Given the description of an element on the screen output the (x, y) to click on. 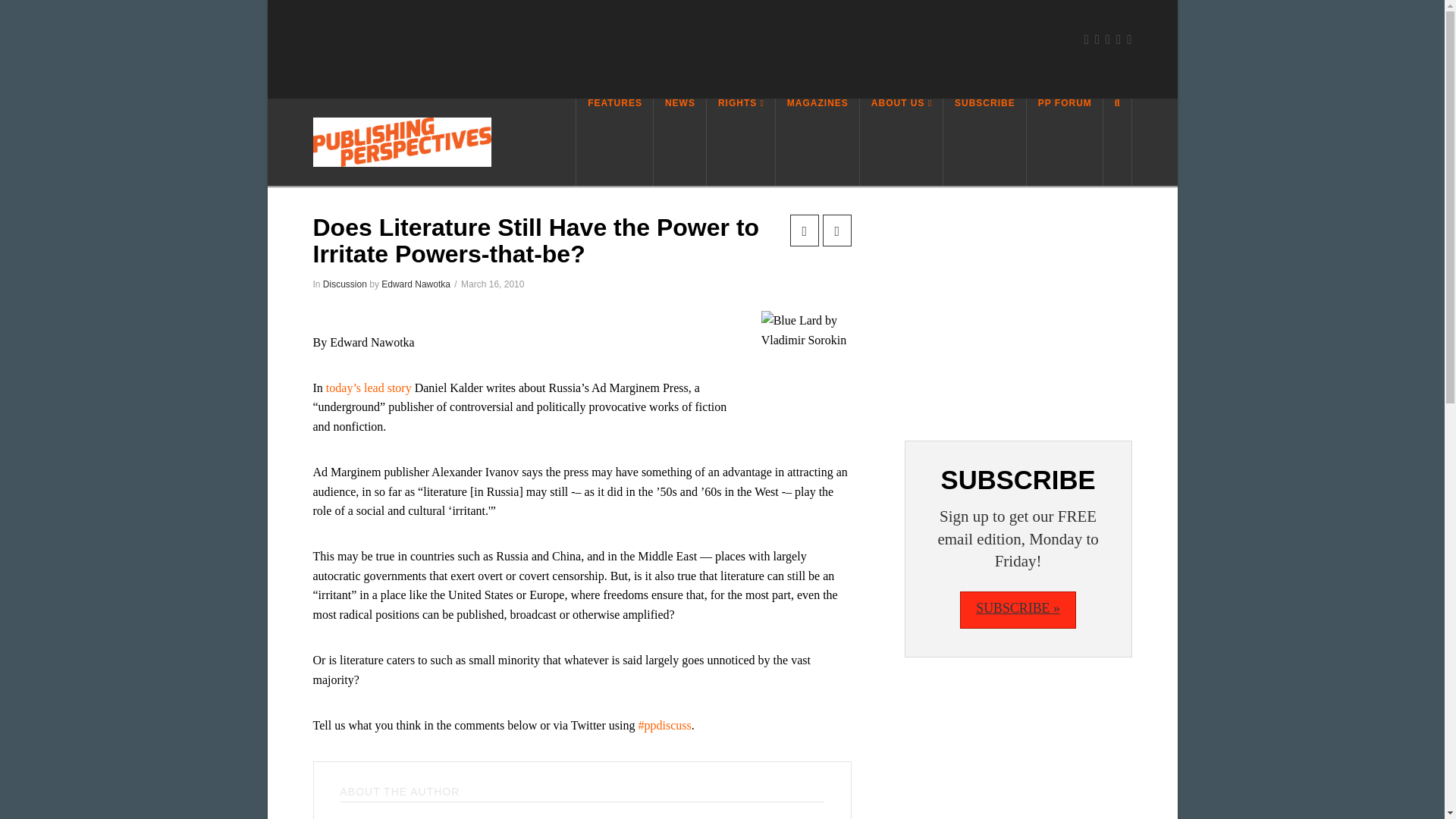
SUBSCRIBE (984, 141)
MAGAZINES (818, 141)
Discussion (344, 284)
FEATURES (614, 141)
ABOUT US (901, 141)
Edward Nawotka (415, 284)
